Given the description of an element on the screen output the (x, y) to click on. 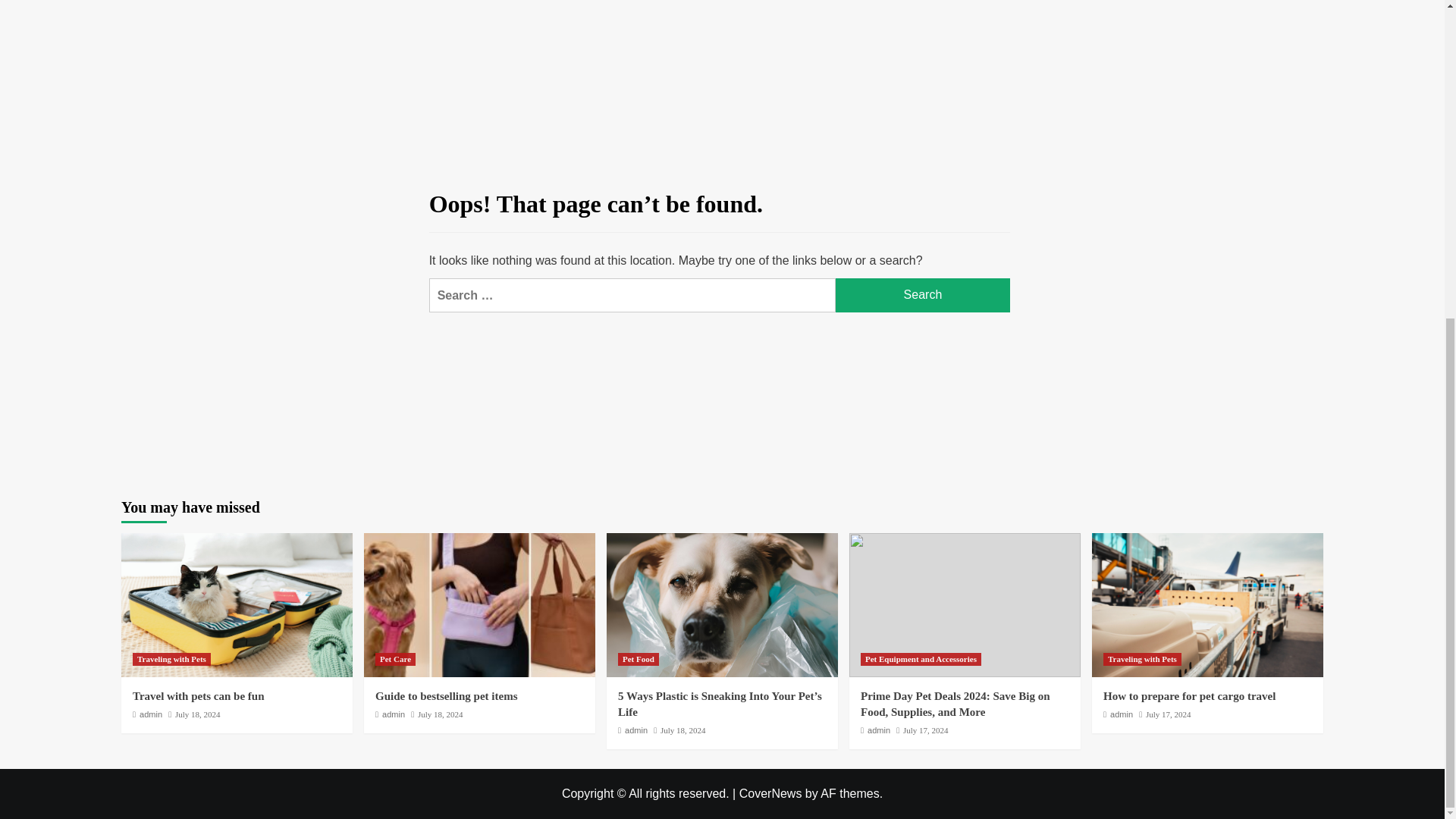
July 18, 2024 (197, 714)
Travel with pets can be fun (197, 695)
July 17, 2024 (1168, 714)
admin (1120, 714)
Traveling with Pets (171, 658)
Pet Equipment and Accessories (920, 658)
Traveling with Pets (1141, 658)
CoverNews (770, 793)
Search (922, 295)
July 18, 2024 (683, 729)
admin (150, 714)
admin (635, 729)
Pet Food (638, 658)
Pet Care (394, 658)
